Given the description of an element on the screen output the (x, y) to click on. 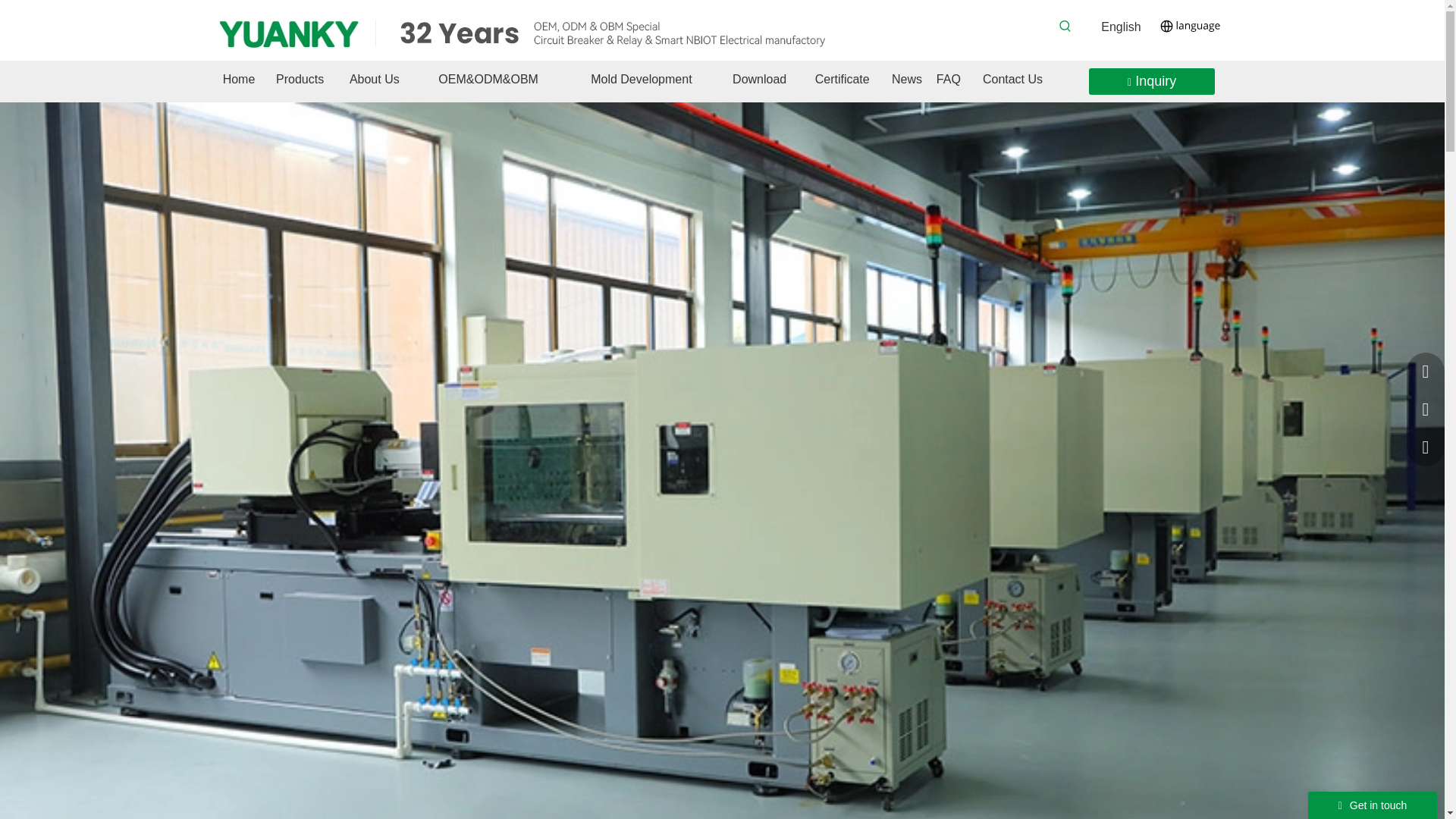
English (1120, 26)
Products (299, 78)
Home (238, 78)
YUANKY logo 2 (528, 32)
